Given the description of an element on the screen output the (x, y) to click on. 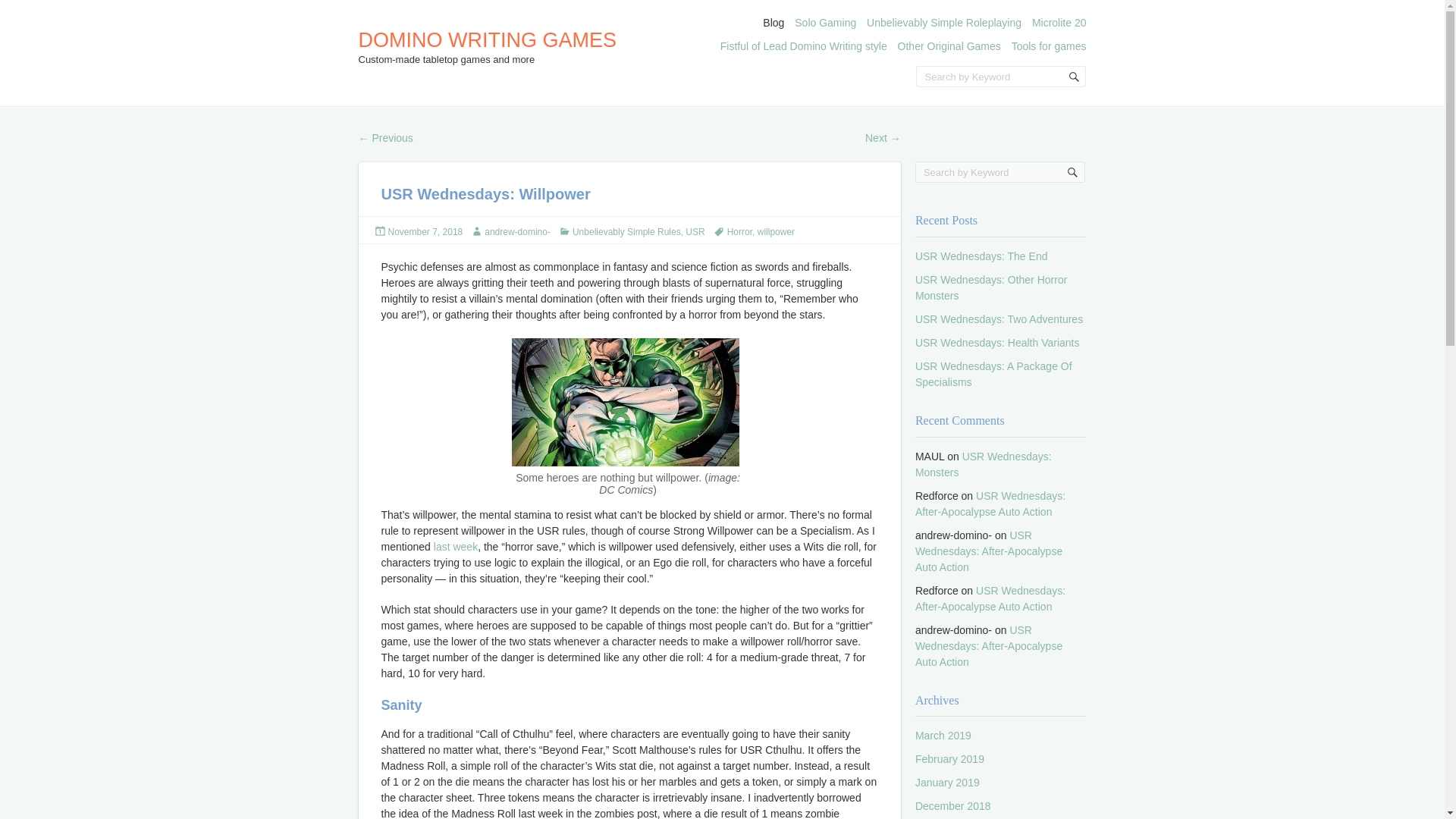
Fistful of Lead Domino Writing style (803, 46)
December 2018 (953, 806)
8:16 pm (425, 231)
USR Wednesdays: Health Variants (997, 342)
last week (455, 546)
Solo Gaming (825, 22)
USR Wednesdays: After-Apocalypse Auto Action (990, 598)
Microlite 20 (1059, 22)
USR Wednesdays: After-Apocalypse Auto Action (988, 646)
USR Wednesdays: Willpower (625, 402)
